Given the description of an element on the screen output the (x, y) to click on. 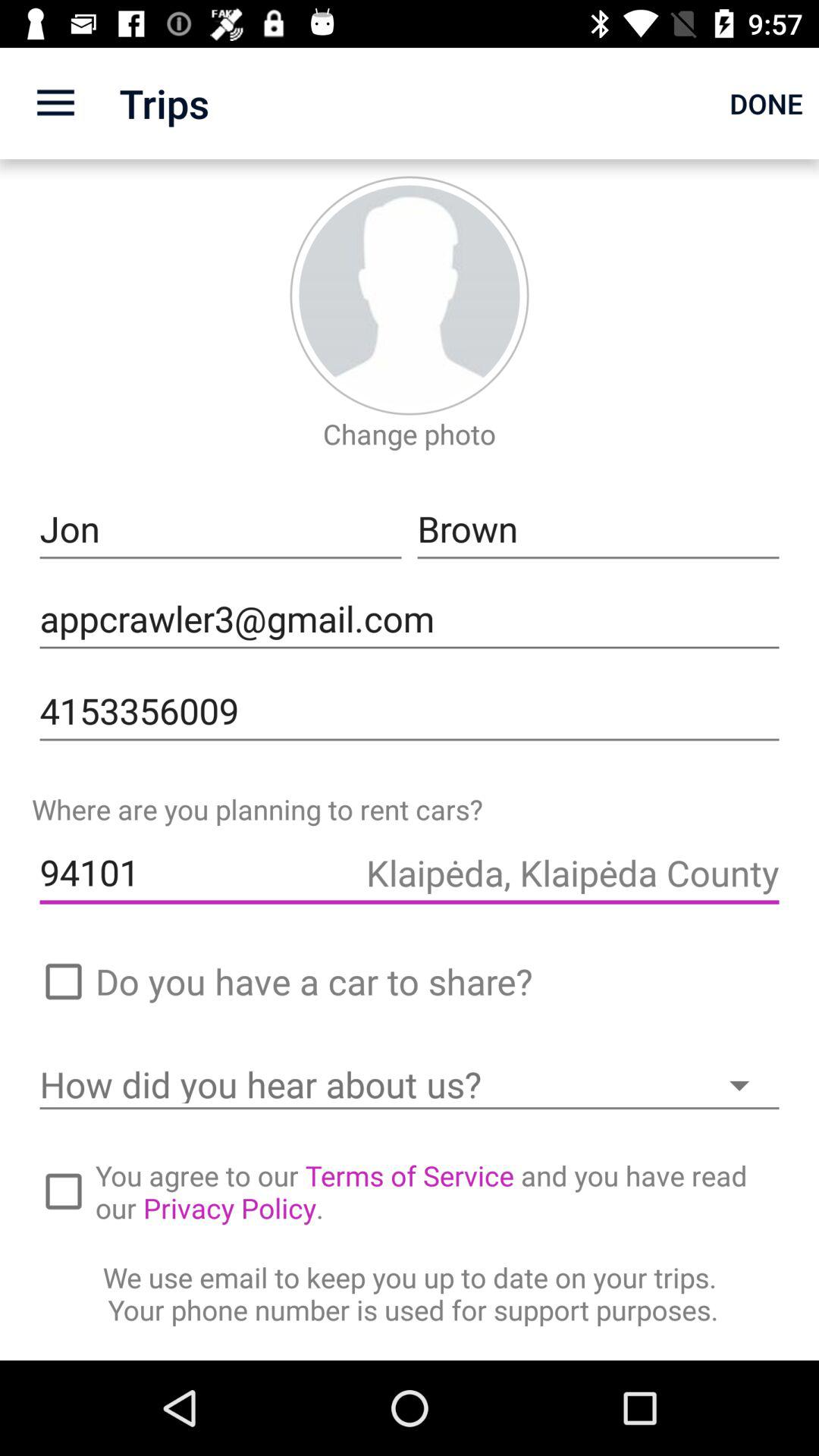
click the jon icon (220, 529)
